Given the description of an element on the screen output the (x, y) to click on. 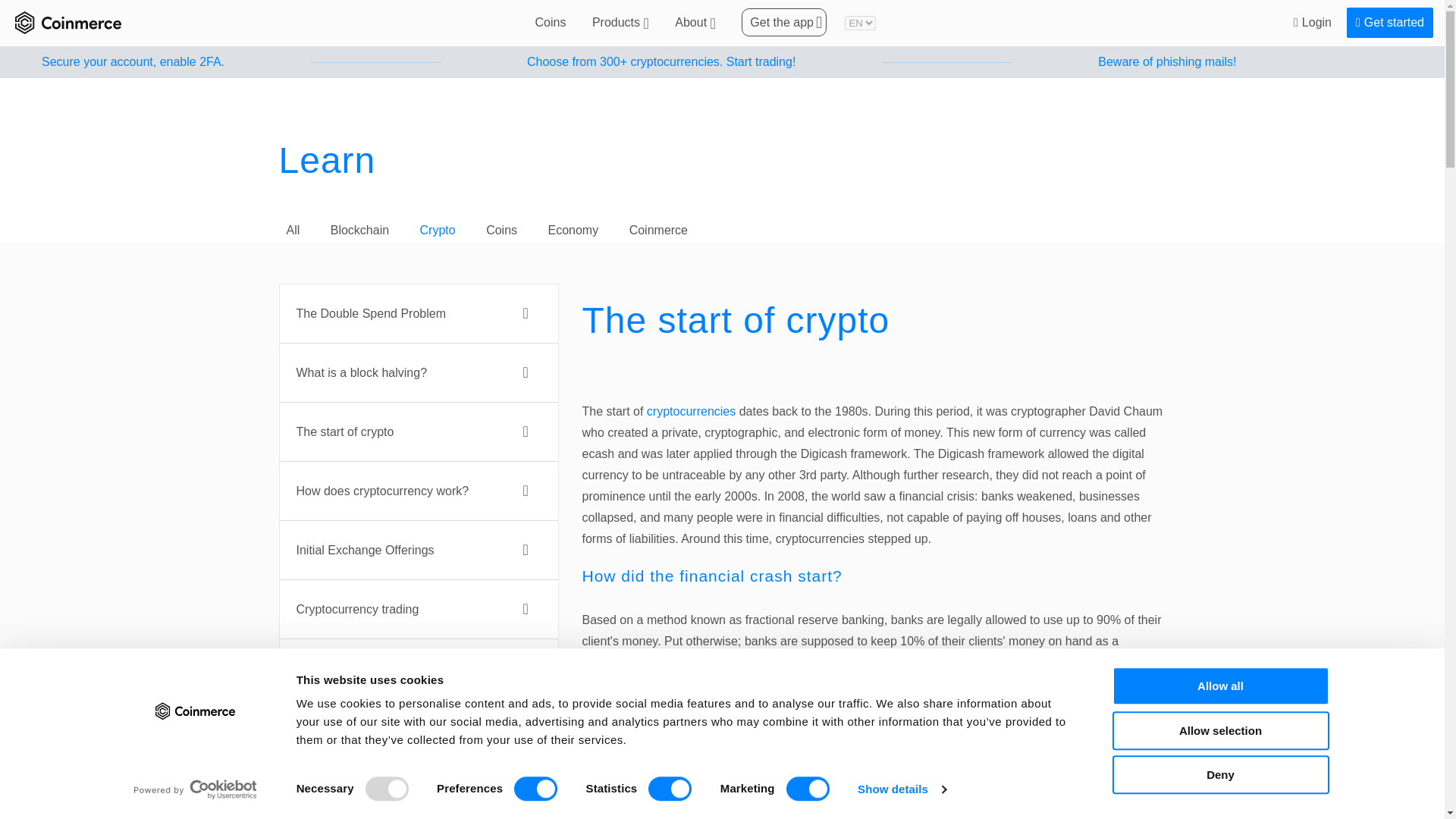
Show details (900, 789)
All Blockchain Crypto Coins Economy Coinmerce (722, 230)
